Given the description of an element on the screen output the (x, y) to click on. 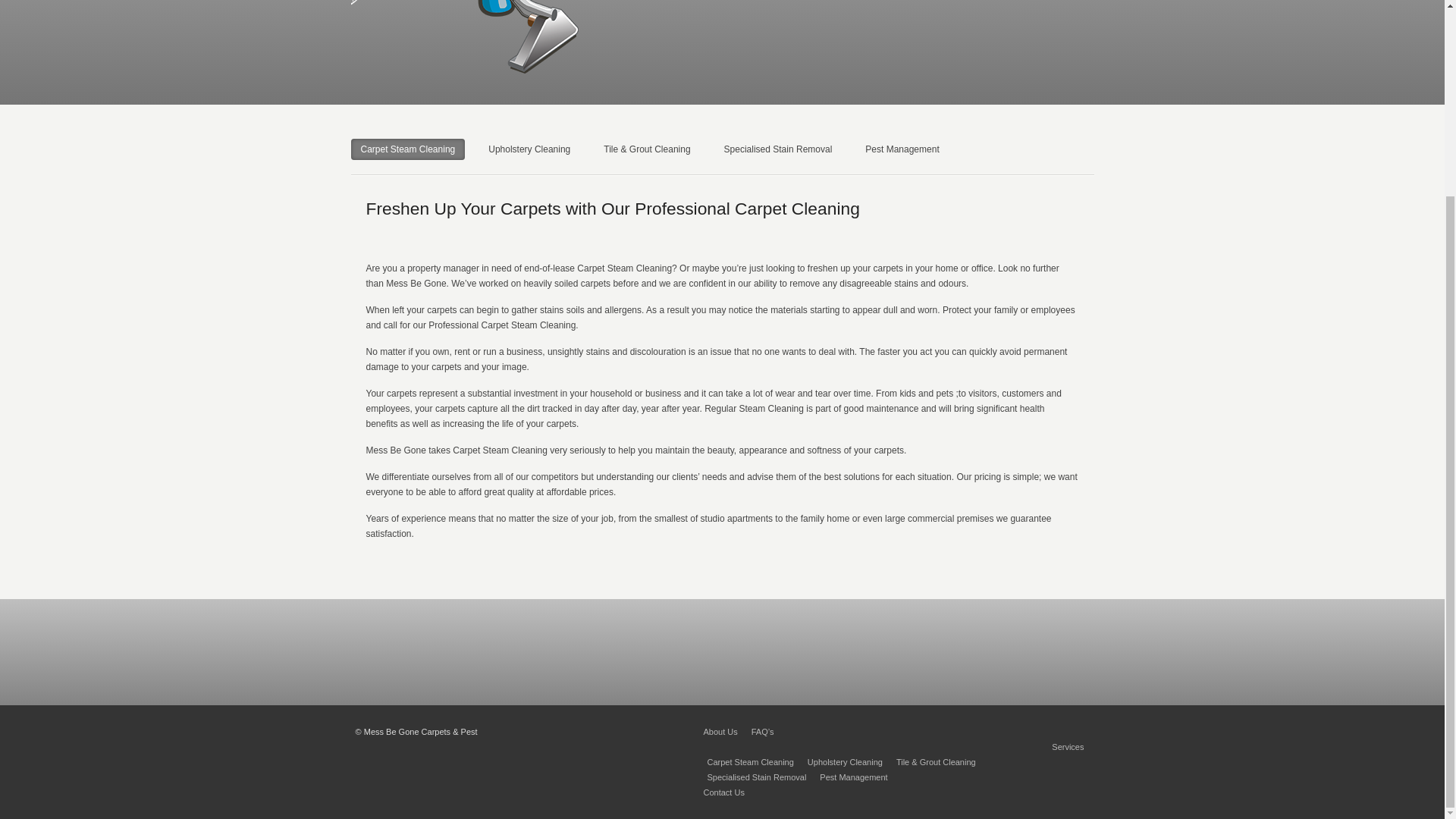
Contact Us (723, 791)
Upholstery Cleaning (529, 148)
Carpet Steam Cleaning (749, 761)
Carpet Steam Cleaning (407, 148)
Upholstery Cleaning (845, 761)
Pest Management (852, 777)
Specialised Stain Removal (778, 148)
About Us (720, 731)
Pest Management (902, 148)
Services (1067, 746)
